Given the description of an element on the screen output the (x, y) to click on. 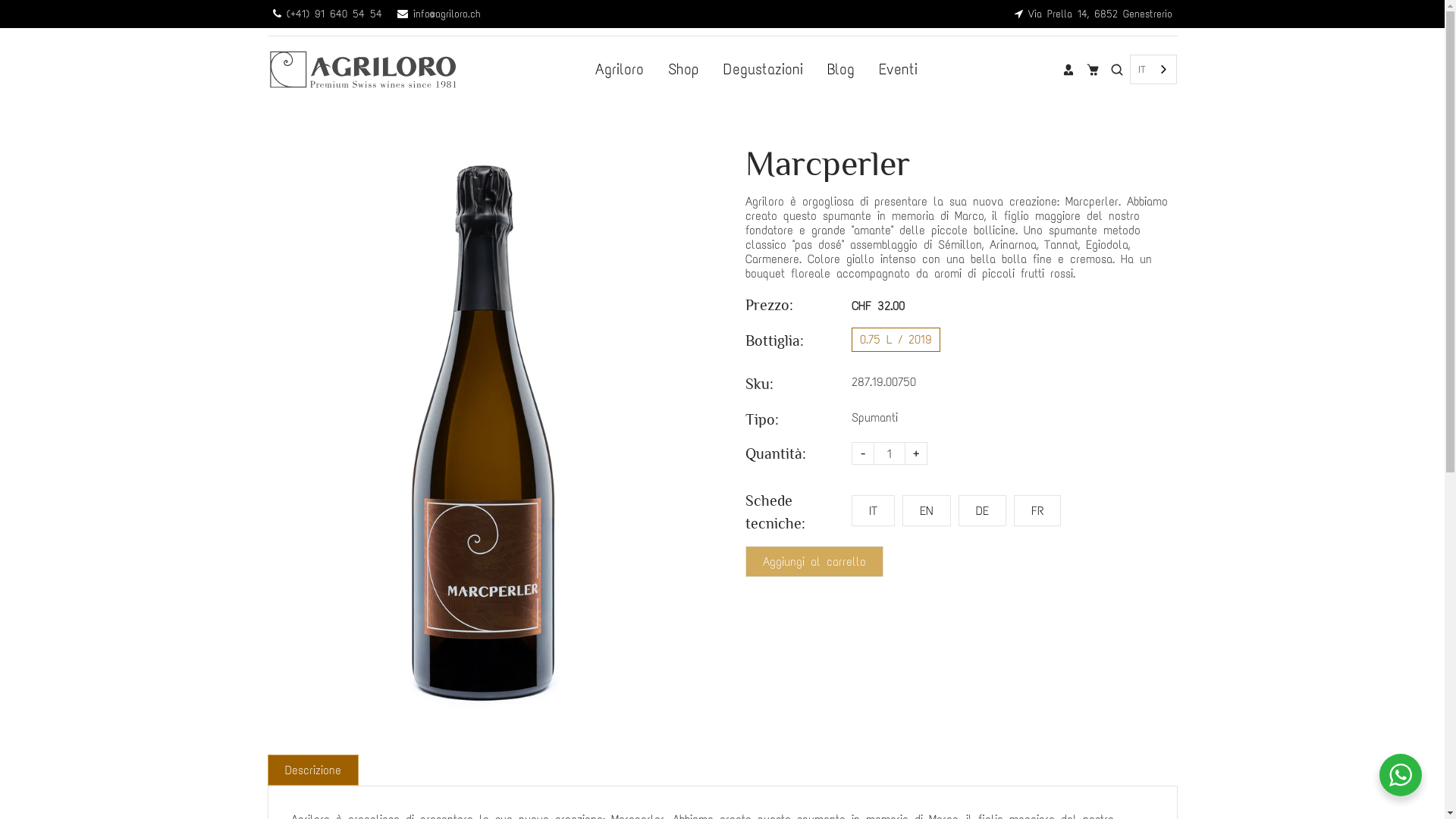
(+41) 91 640 54 54 Element type: text (327, 13)
FR Element type: text (1036, 510)
Marcperler Element type: hover (482, 432)
Aggiungi al carrello Element type: text (813, 561)
Carrello Element type: text (1092, 68)
Shop Element type: text (683, 69)
Accedi Element type: text (1068, 68)
IT Element type: text (872, 510)
Descrizione Element type: text (311, 769)
- Element type: text (861, 453)
Via Prella 14, 6852 Genestrerio Element type: text (1093, 13)
Eventi Element type: text (897, 69)
IT Element type: text (1152, 69)
Blog Element type: text (840, 69)
info@agriloro.ch Element type: text (438, 13)
Cerca Element type: text (1116, 68)
EN Element type: text (926, 510)
Degustazioni Element type: text (763, 69)
DE Element type: text (982, 510)
+ Element type: text (914, 453)
Agriloro Element type: text (619, 69)
